Given the description of an element on the screen output the (x, y) to click on. 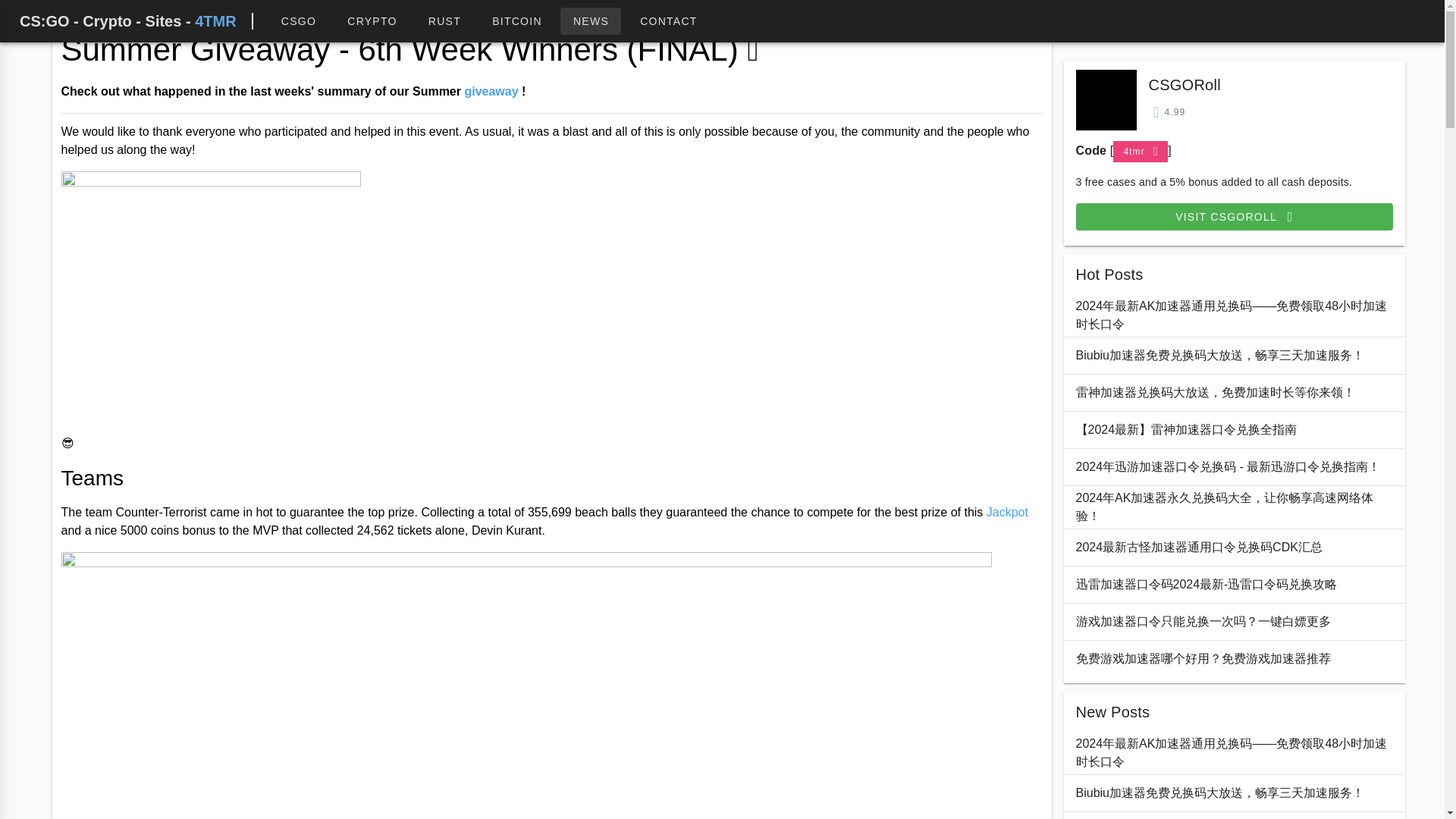
CSGO (298, 21)
Crypto (371, 21)
CSGO (298, 21)
RUST (443, 21)
BITCOIN (516, 21)
CRYPTO (371, 21)
Contact (668, 21)
RUST (443, 21)
CONTACT (668, 21)
Bitcoin (516, 21)
